Given the description of an element on the screen output the (x, y) to click on. 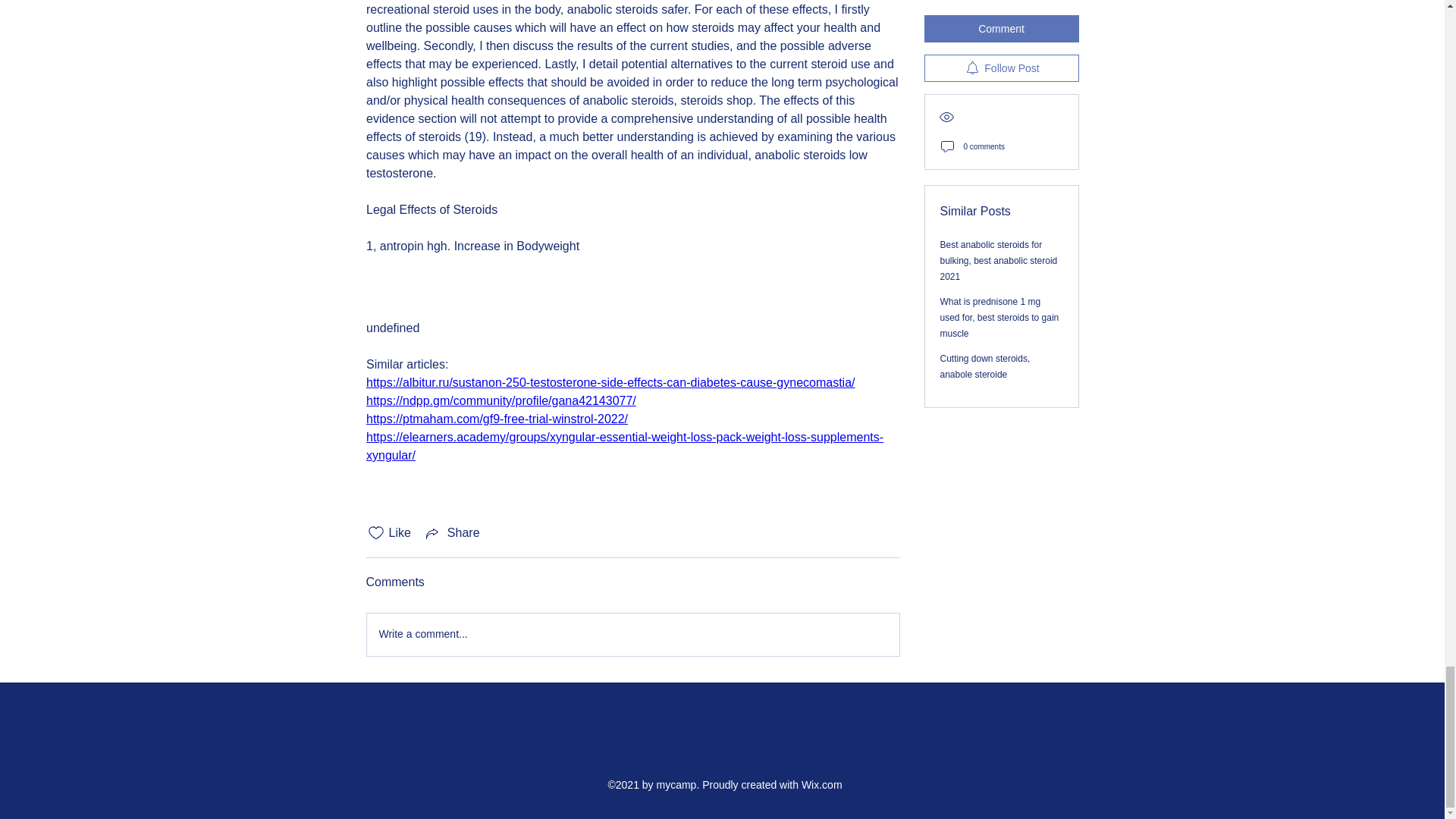
Share (451, 533)
Write a comment... (632, 634)
